Given the description of an element on the screen output the (x, y) to click on. 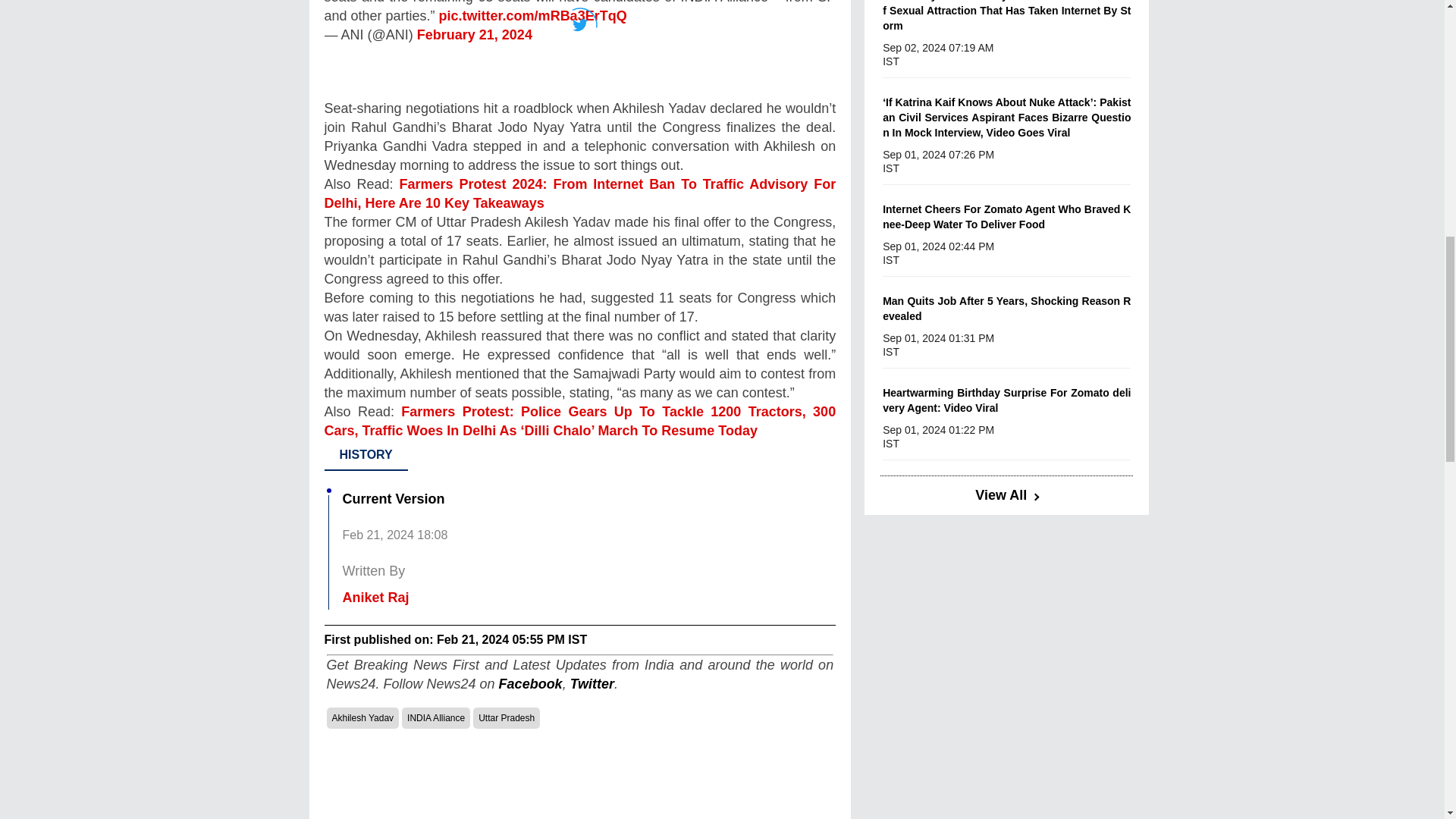
Twitter (579, 49)
Advertisement (579, 782)
February 21, 2024 (474, 34)
